Given the description of an element on the screen output the (x, y) to click on. 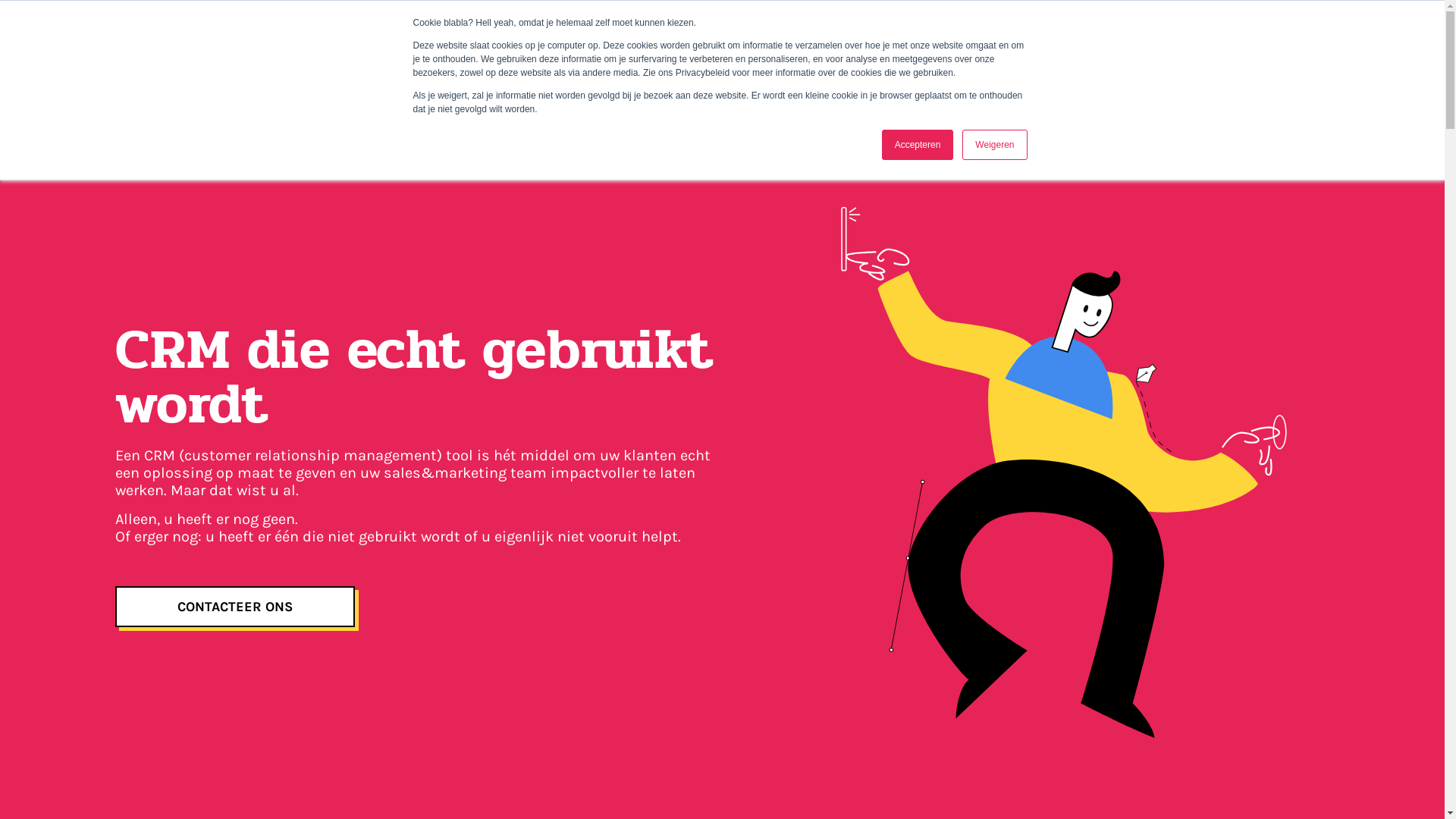
AANPAK Element type: text (1104, 52)
CONTACT Element type: text (1236, 52)
CONTACTEER ONS Element type: text (234, 606)
Weigeren Element type: text (994, 144)
WAAROM CRM FACTORY? Element type: text (968, 52)
Accepteren Element type: text (917, 144)
cropped-logo-crm-factory.png Element type: hover (156, 56)
WAAROM EEN CRM SYSTEEM? Element type: text (761, 52)
